Given the description of an element on the screen output the (x, y) to click on. 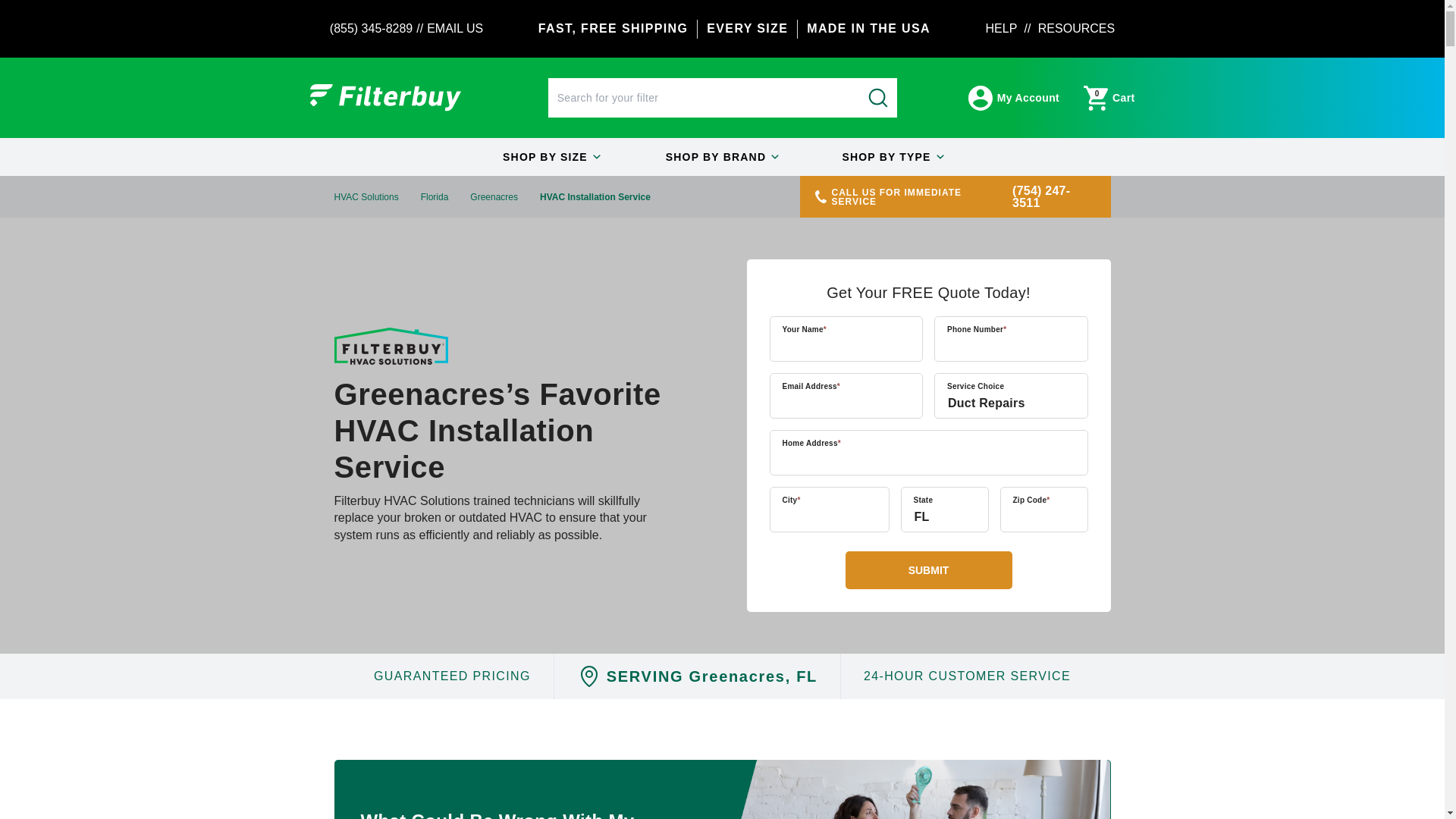
EMAIL US (454, 28)
HELP (1002, 28)
RESOURCES (1076, 28)
My Account (1013, 97)
View your shopping cart (1108, 97)
SHOP BY SIZE (1108, 97)
